Given the description of an element on the screen output the (x, y) to click on. 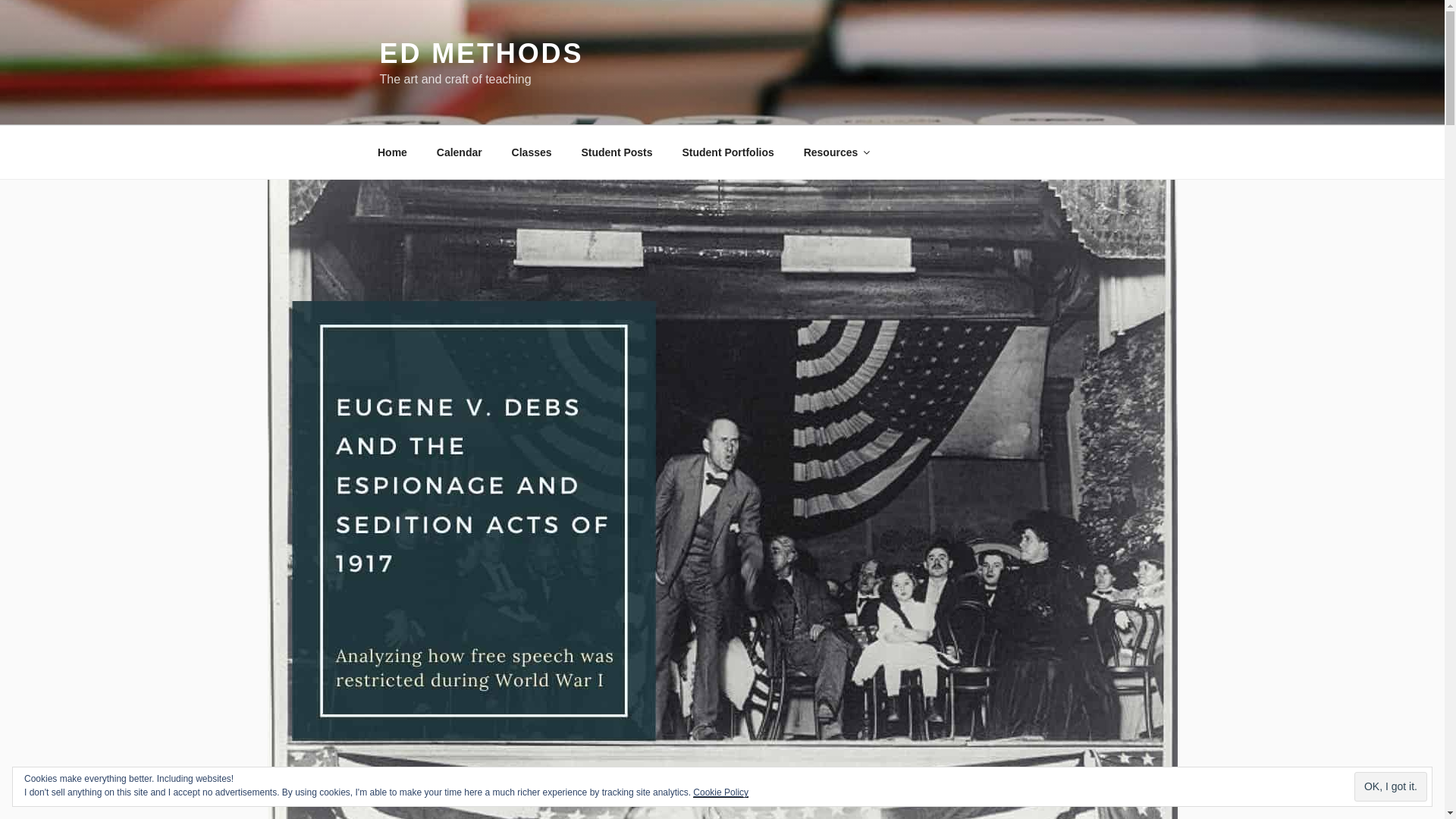
Resources (836, 151)
Student Portfolios (727, 151)
OK, I got it. (1390, 786)
Student Posts (616, 151)
ED METHODS (480, 52)
Home (392, 151)
Calendar (459, 151)
Classes (530, 151)
